Given the description of an element on the screen output the (x, y) to click on. 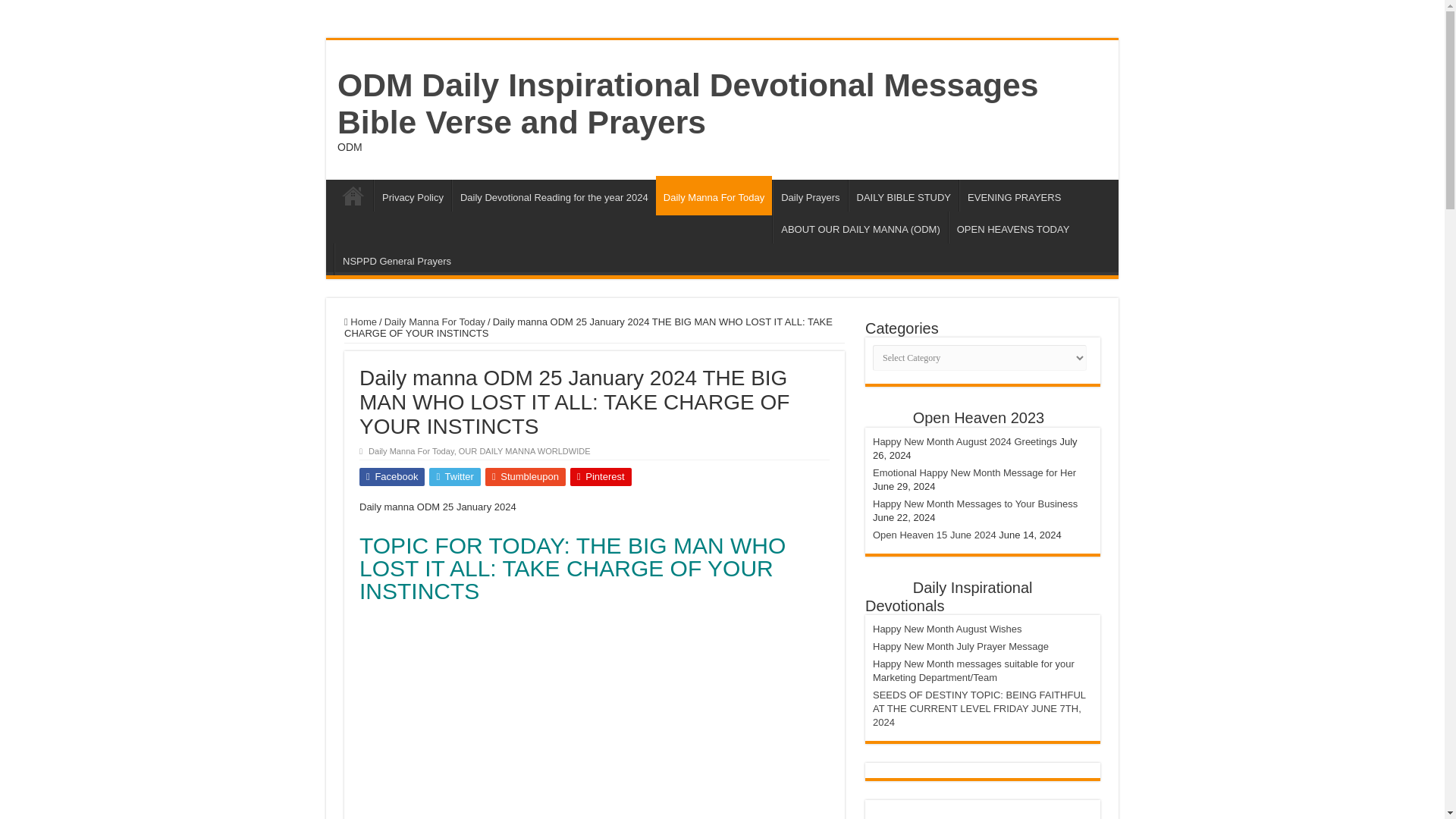
NSPPD General Prayers (396, 259)
Daily Manna For Today (411, 450)
Privacy Policy (412, 195)
Daily Manna For Today (713, 195)
Daily Manna For Today (434, 321)
Pinterest (600, 476)
Home (360, 321)
OPEN HEAVENS TODAY (1013, 227)
ODM Online (352, 195)
Daily Devotional Reading for the year 2024 (553, 195)
EVENING PRAYERS (1013, 195)
DAILY BIBLE STUDY (903, 195)
Facebook (392, 476)
Twitter (454, 476)
Stumbleupon (525, 476)
